Given the description of an element on the screen output the (x, y) to click on. 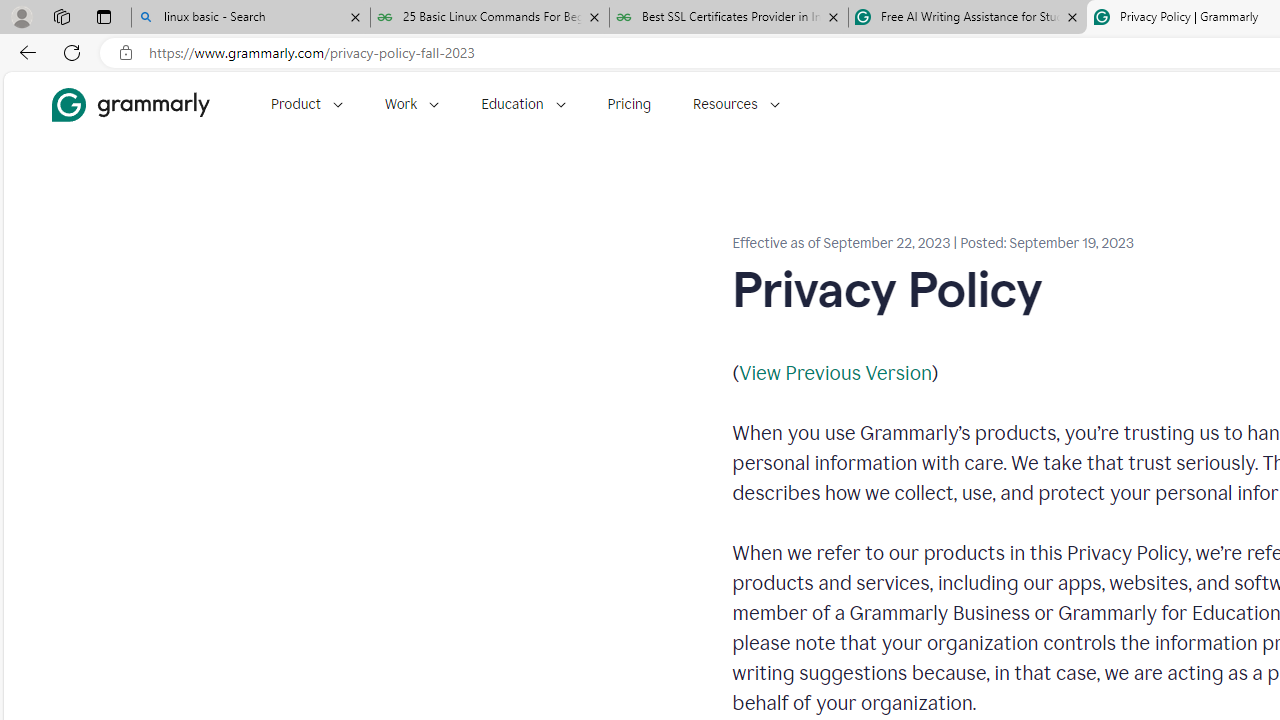
Work (412, 104)
Grammarly Home (130, 104)
Pricing (629, 103)
Resources (736, 103)
Resources (736, 104)
